Given the description of an element on the screen output the (x, y) to click on. 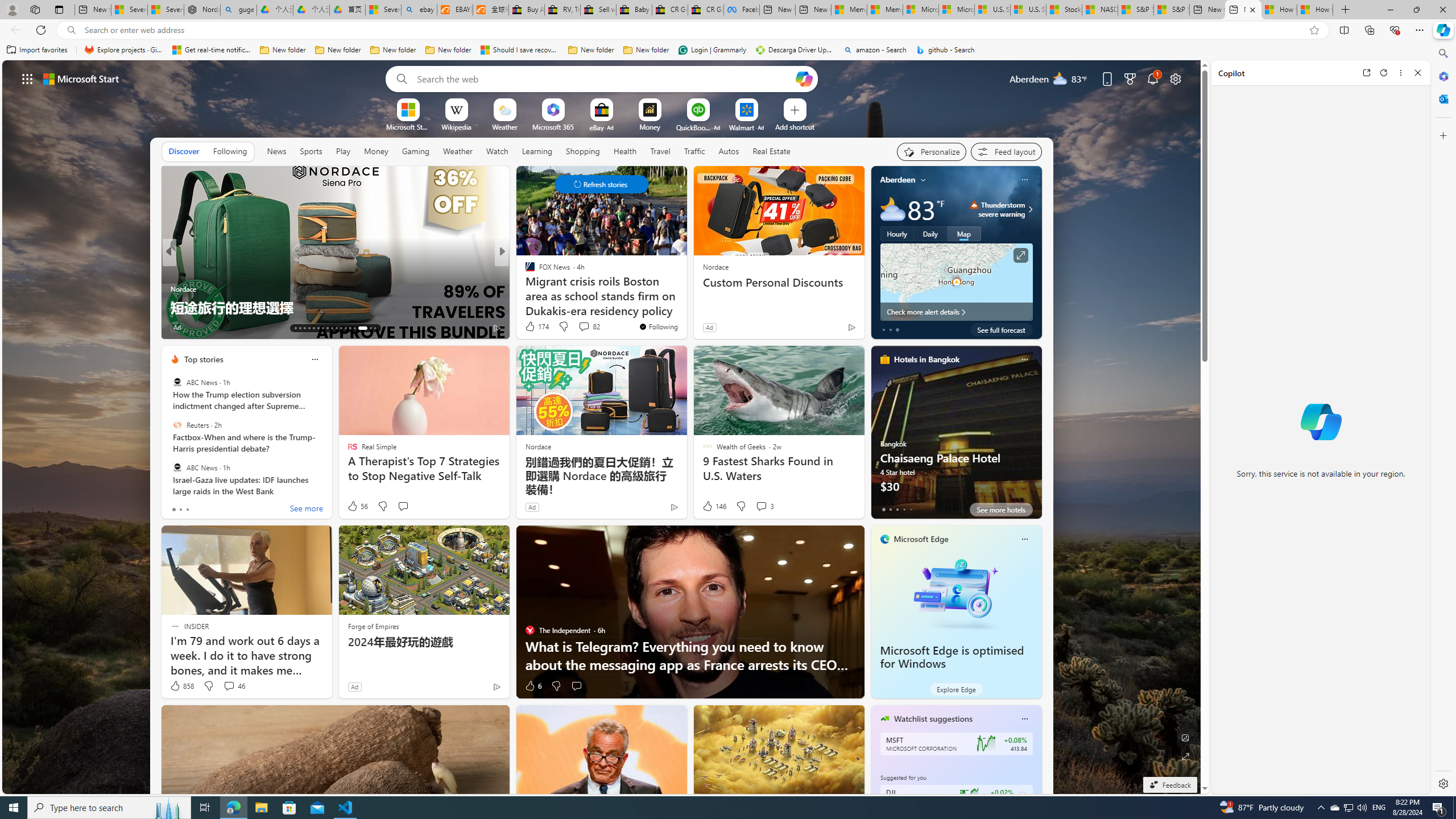
Enter your search term (603, 78)
Like (526, 327)
See more (306, 509)
Hotels in Bangkok (926, 359)
Buy Auto Parts & Accessories | eBay (525, 9)
View comments 3 Comment (764, 505)
Login | Grammarly (712, 49)
amazon - Search (875, 49)
ABC News (176, 466)
AutomationID: tab-14 (299, 328)
